Given the description of an element on the screen output the (x, y) to click on. 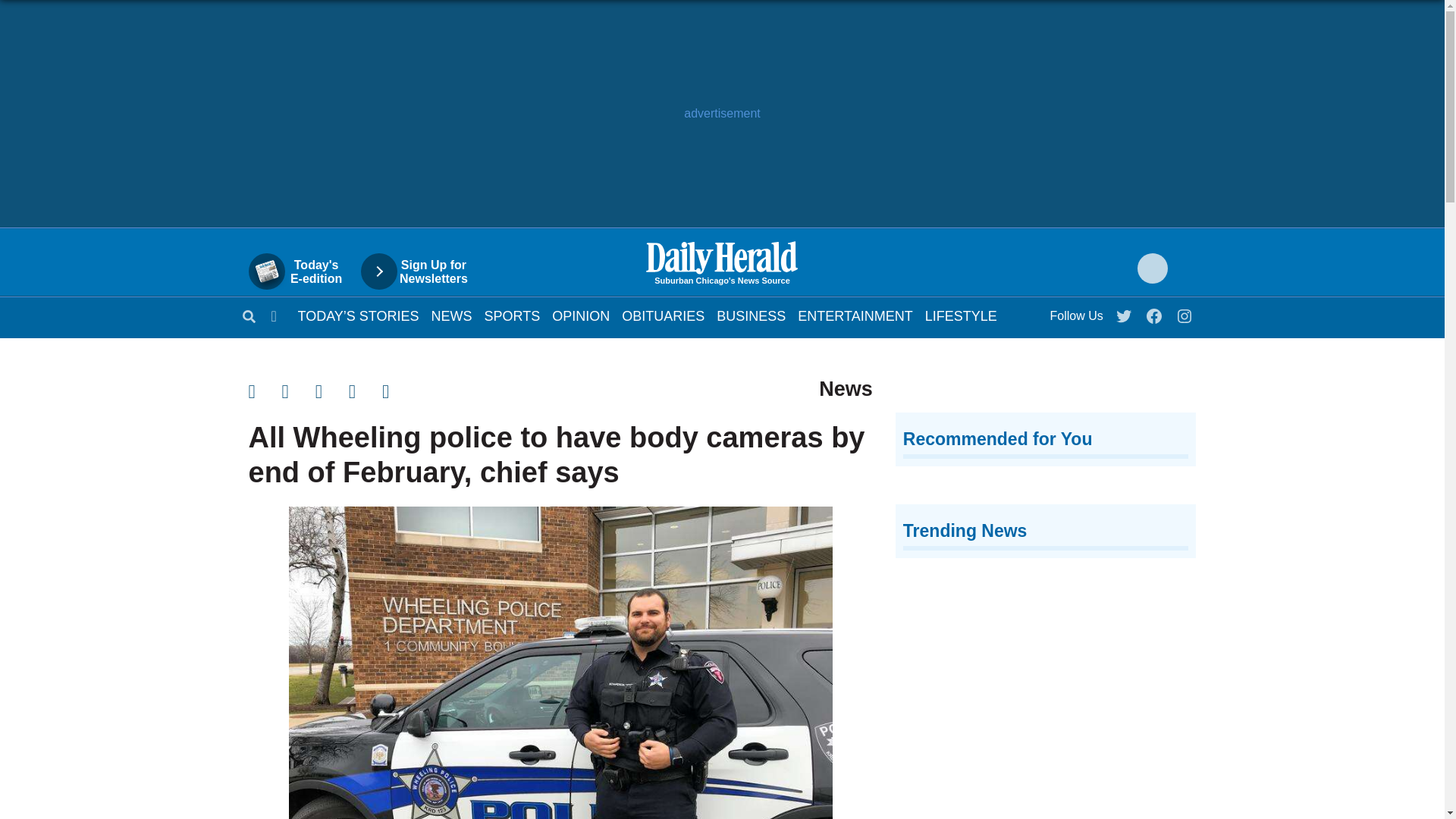
LIFESTYLE (960, 315)
Sports (512, 315)
SPORTS (512, 315)
OPINION (580, 315)
Obituaries (662, 315)
Entertainment (854, 315)
Sign Up for Newsletters (421, 271)
OBITUARIES (303, 271)
Facebook (662, 315)
